Given the description of an element on the screen output the (x, y) to click on. 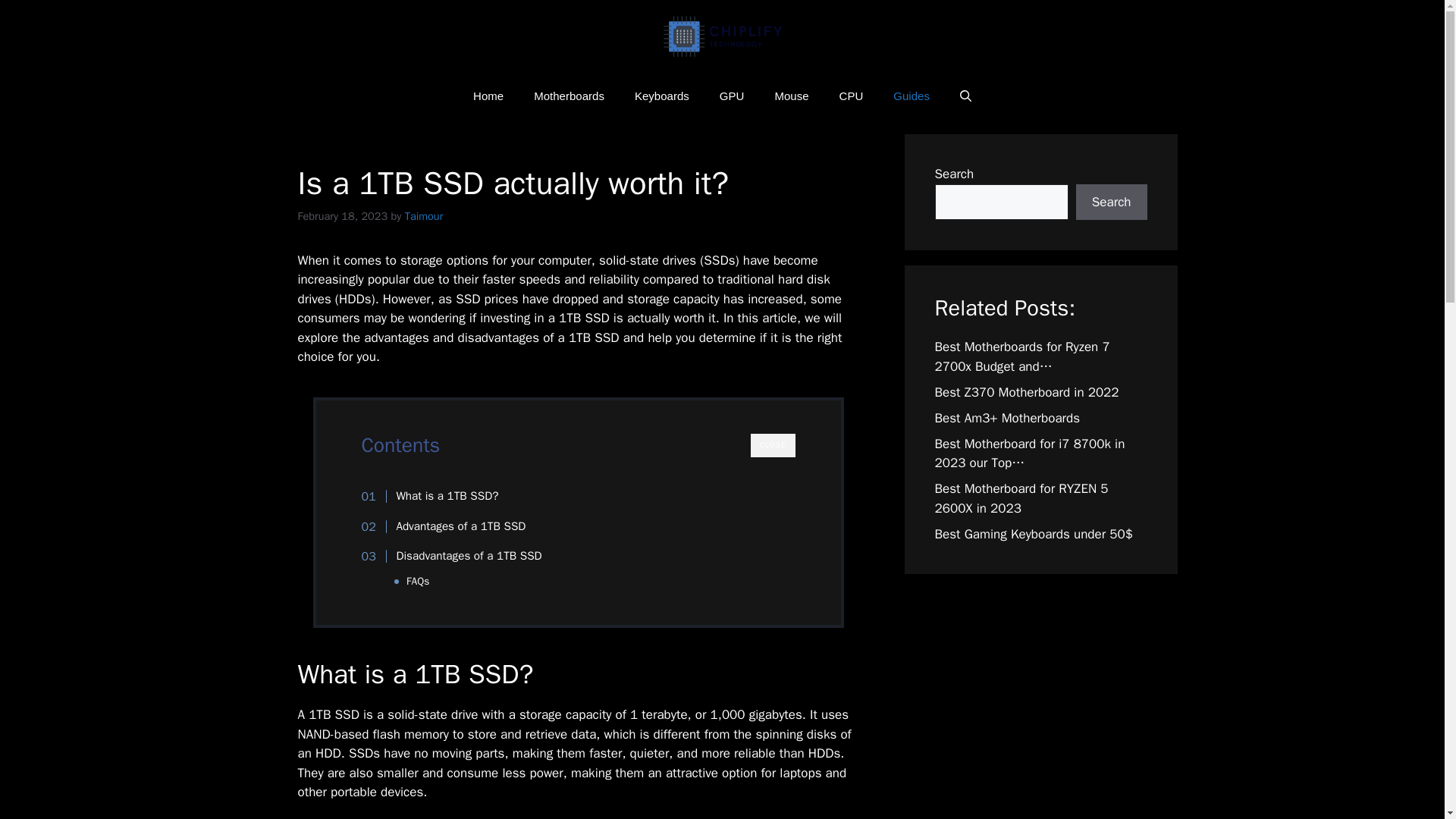
FAQs (417, 580)
Disadvantages of a 1TB SSD (459, 556)
GPU (732, 95)
Keyboards (662, 95)
Taimour (424, 215)
Motherboards (569, 95)
Advantages of a 1TB SSD (451, 526)
Mouse (791, 95)
Best Z370 Motherboard in 2022 (1026, 392)
View all posts by Taimour (424, 215)
